Given the description of an element on the screen output the (x, y) to click on. 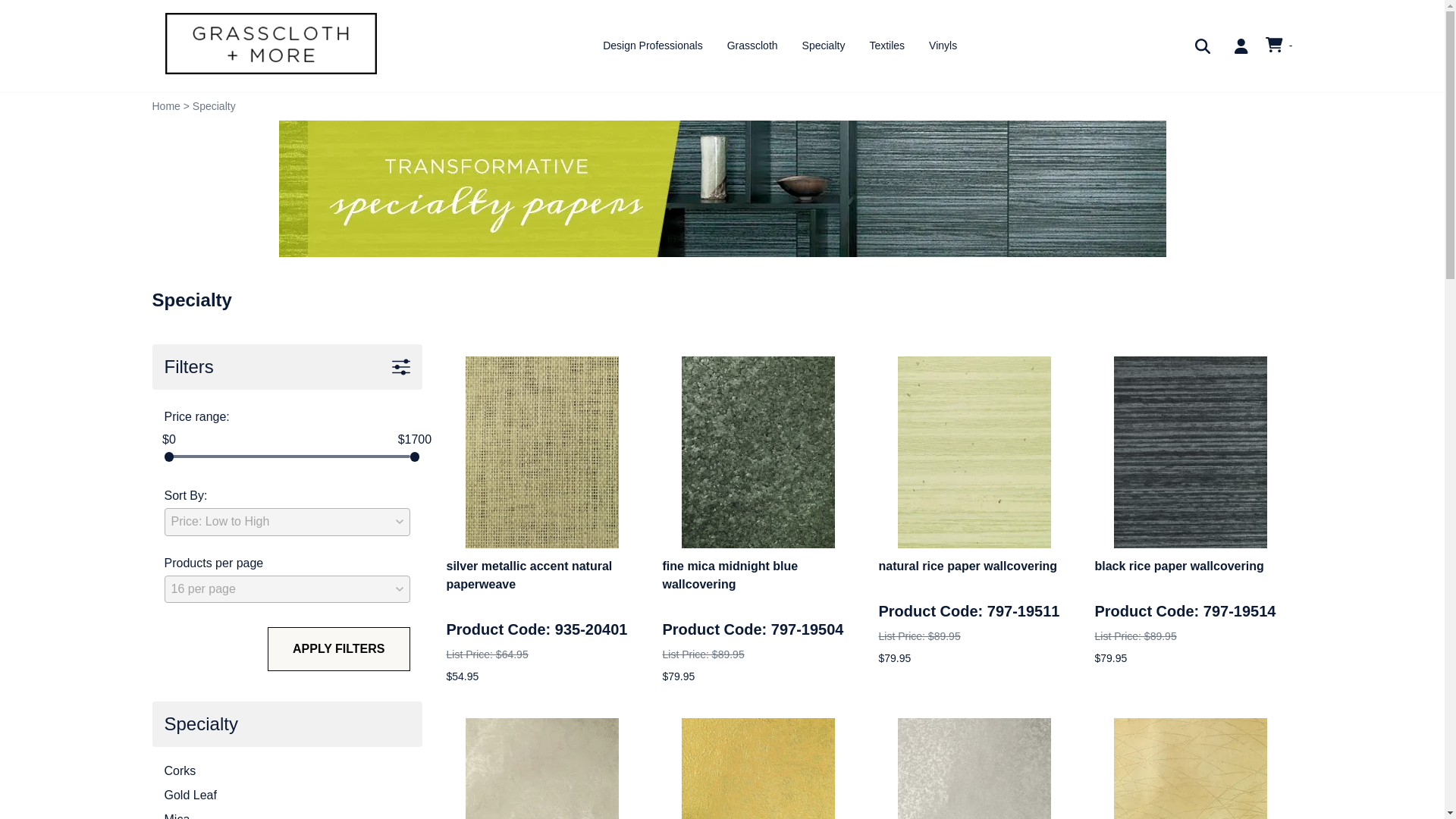
Antique gold textured scrim pattern (757, 768)
Pale gold all over antique finish (974, 768)
Pale gold textured scrim pattern (1189, 768)
Sort By: (286, 521)
Pale gold distressed look (541, 768)
Products per page (286, 588)
